Given the description of an element on the screen output the (x, y) to click on. 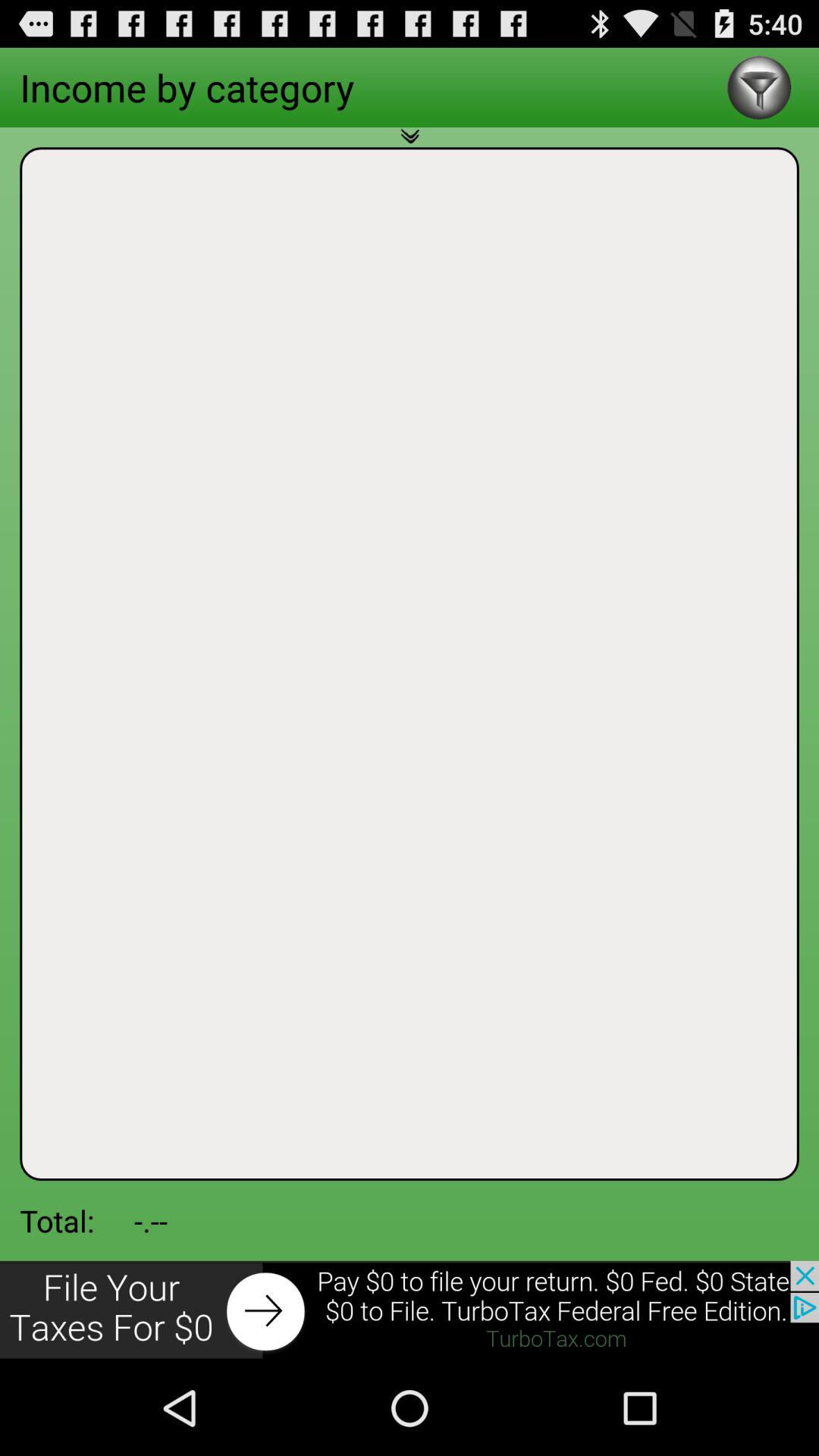
click for more info (409, 1310)
